Given the description of an element on the screen output the (x, y) to click on. 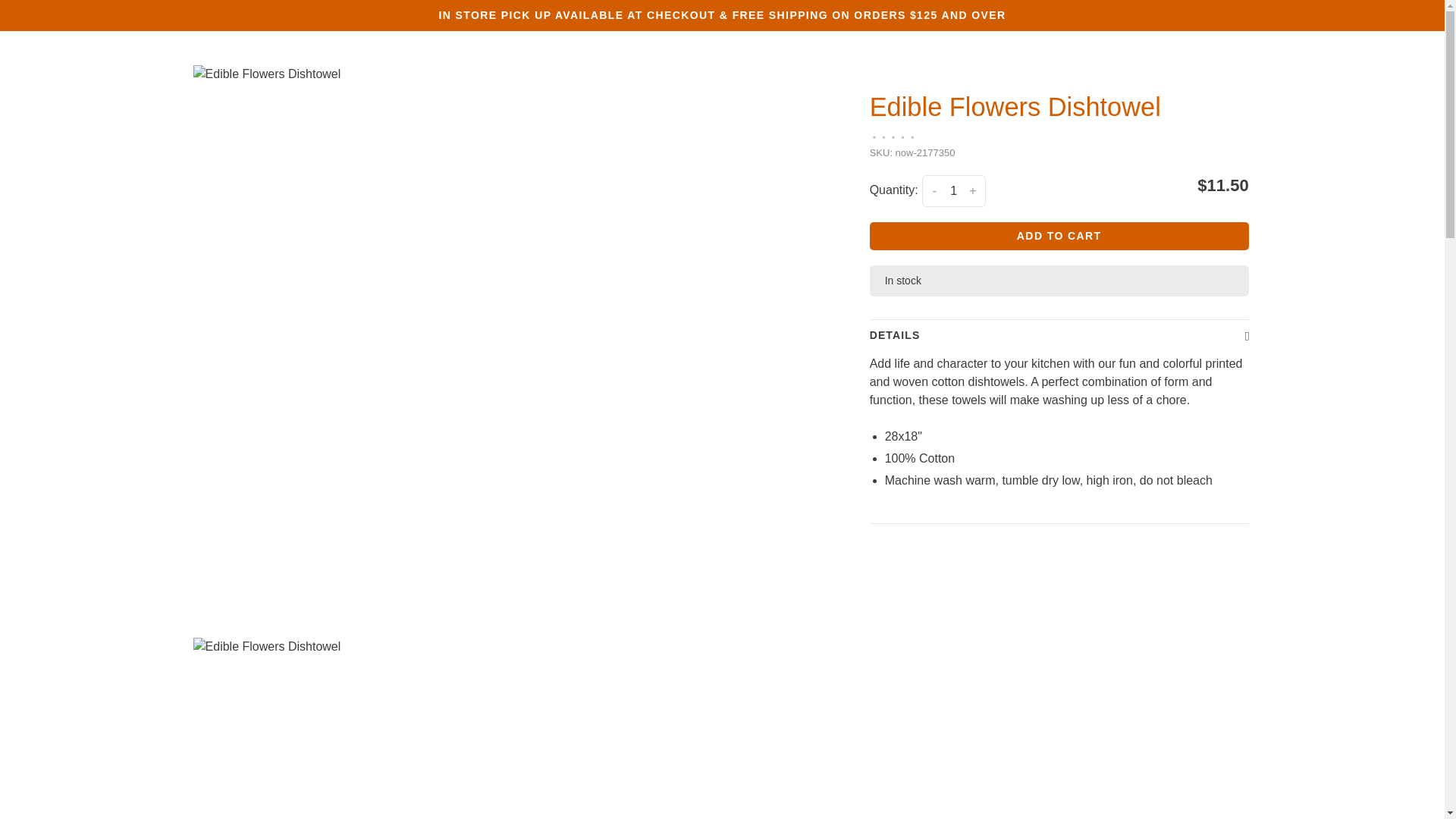
1 (953, 191)
